Given the description of an element on the screen output the (x, y) to click on. 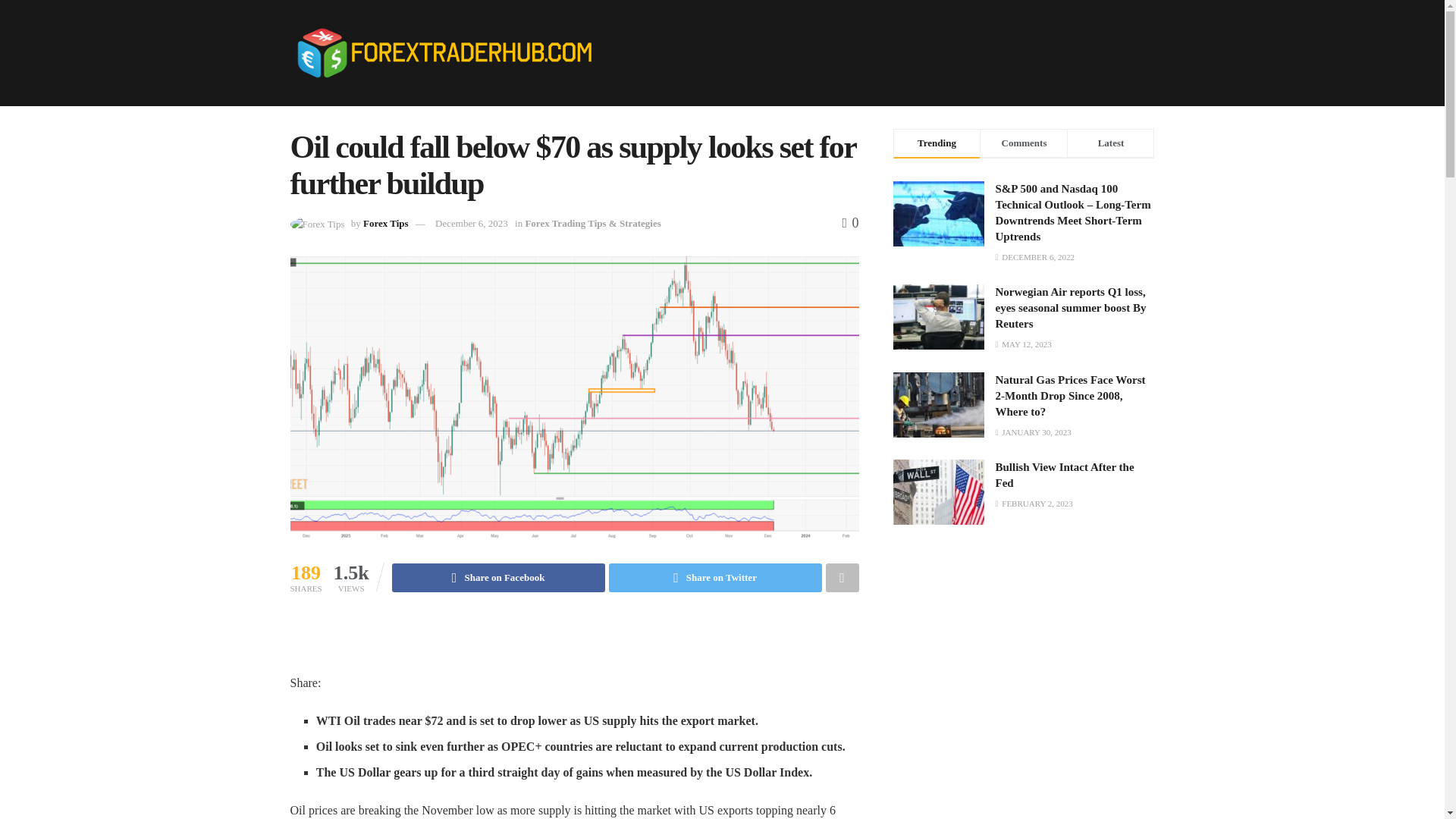
Share on Facebook (498, 577)
Forex Tips (385, 223)
Share on Twitter (715, 577)
0 (850, 222)
December 6, 2023 (471, 223)
